Given the description of an element on the screen output the (x, y) to click on. 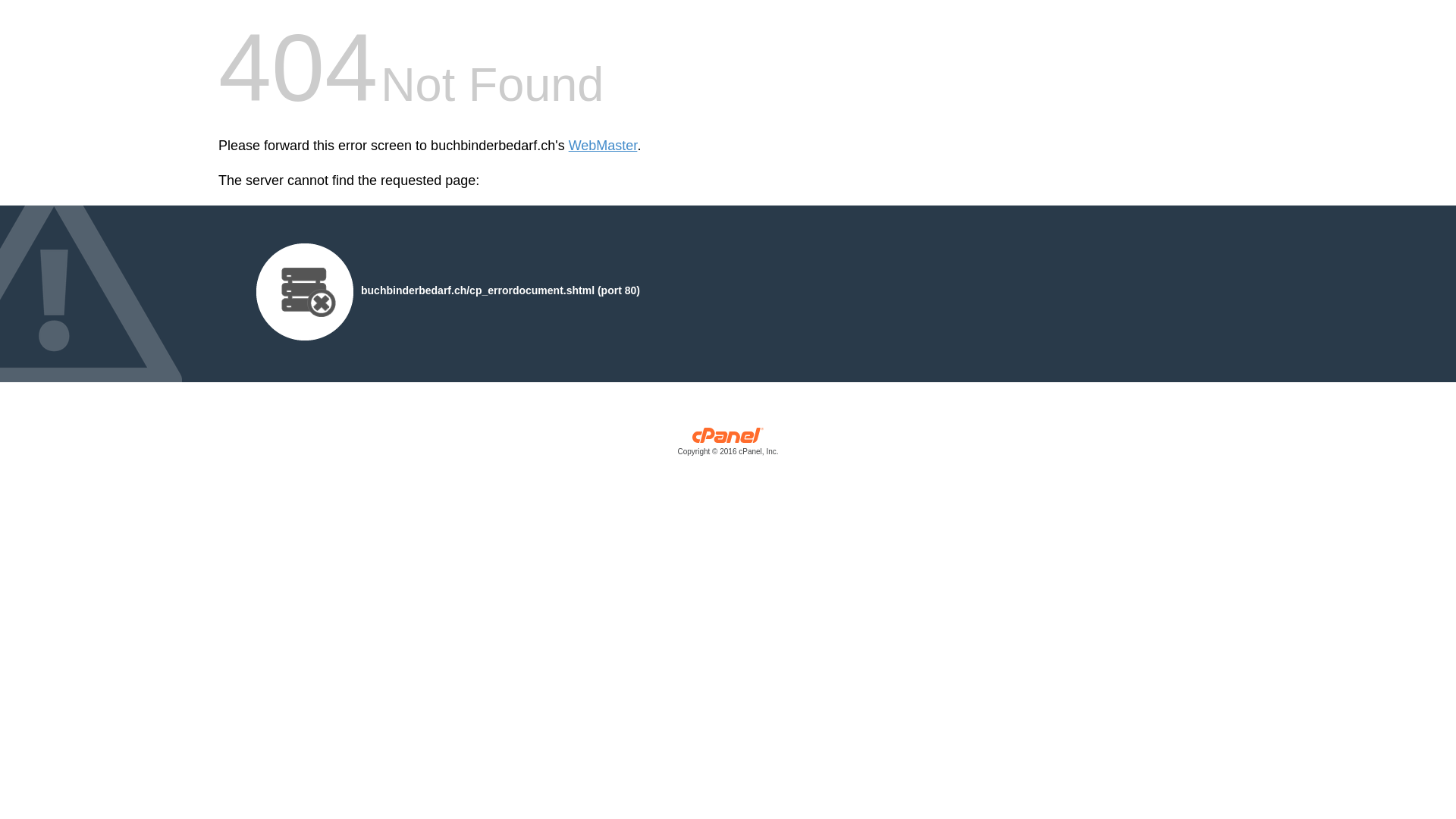
WebMaster Element type: text (602, 145)
